Given the description of an element on the screen output the (x, y) to click on. 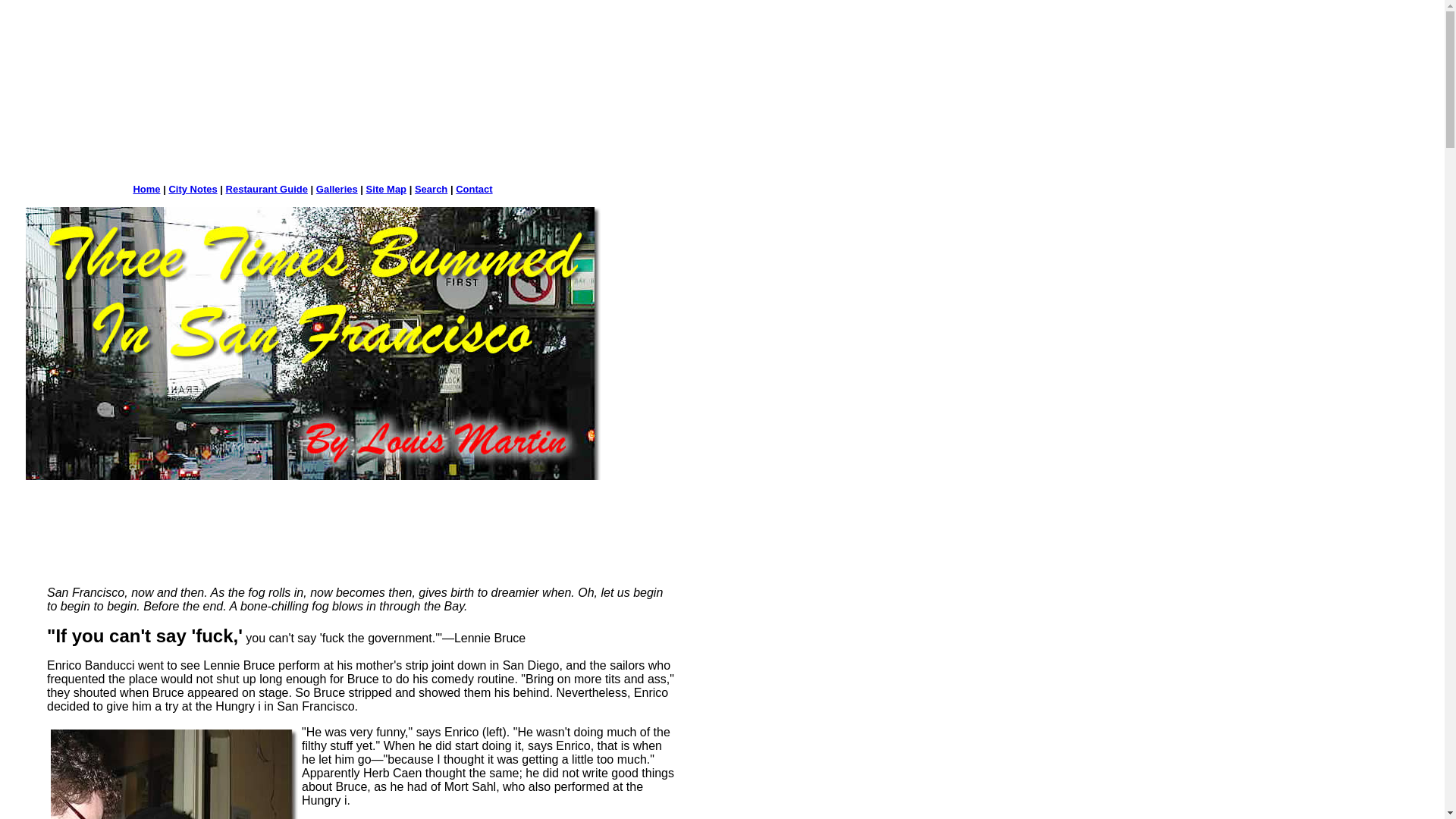
City Notes (192, 188)
Restaurant Guide (266, 188)
Contact (473, 188)
Search (430, 188)
Site Map (386, 188)
Home (146, 188)
Advertisement (294, 137)
Galleries (336, 188)
